Given the description of an element on the screen output the (x, y) to click on. 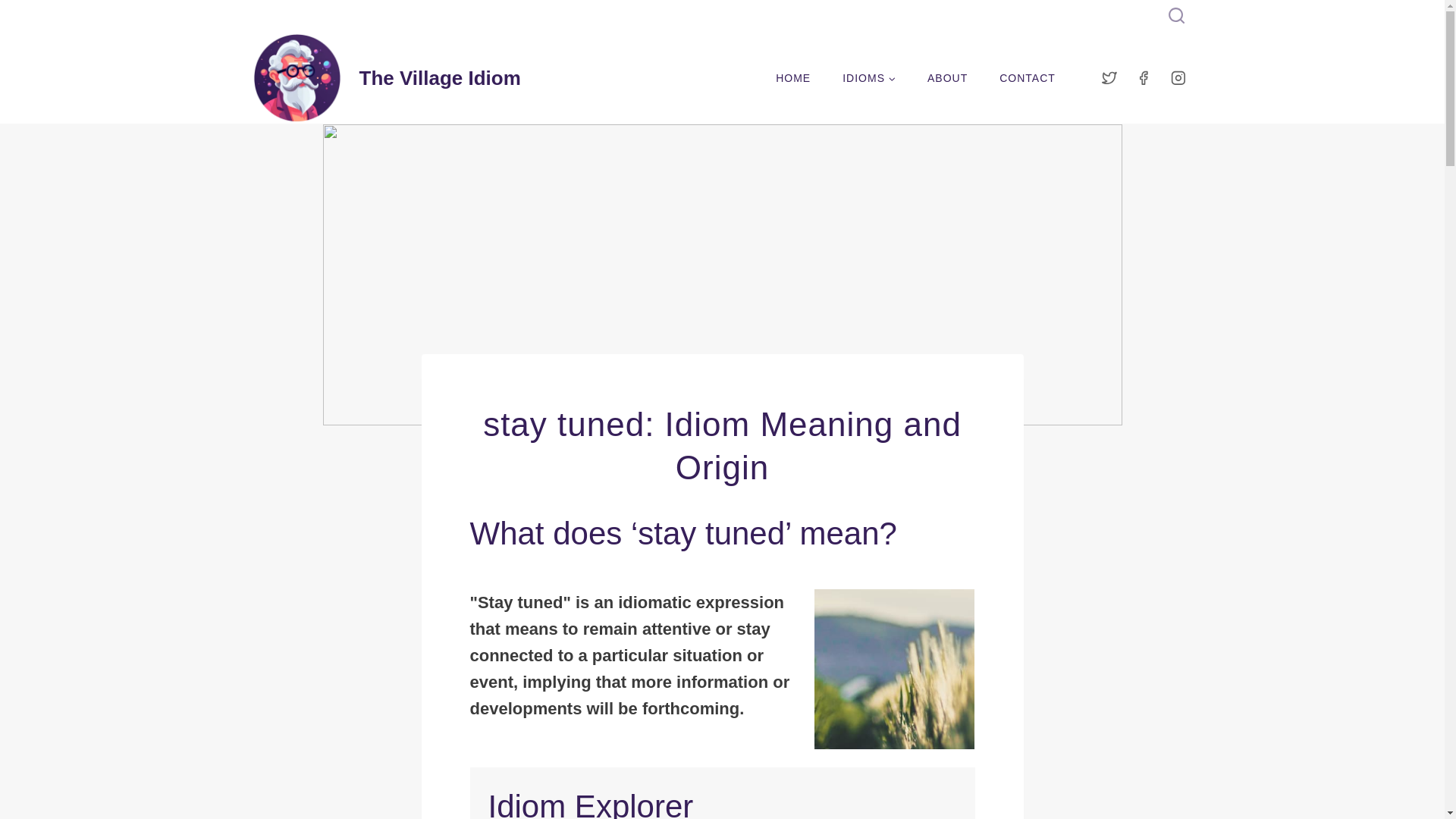
CONTACT (1027, 78)
HOME (793, 78)
ABOUT (947, 78)
The Village Idiom (386, 77)
IDIOMS (869, 78)
